Given the description of an element on the screen output the (x, y) to click on. 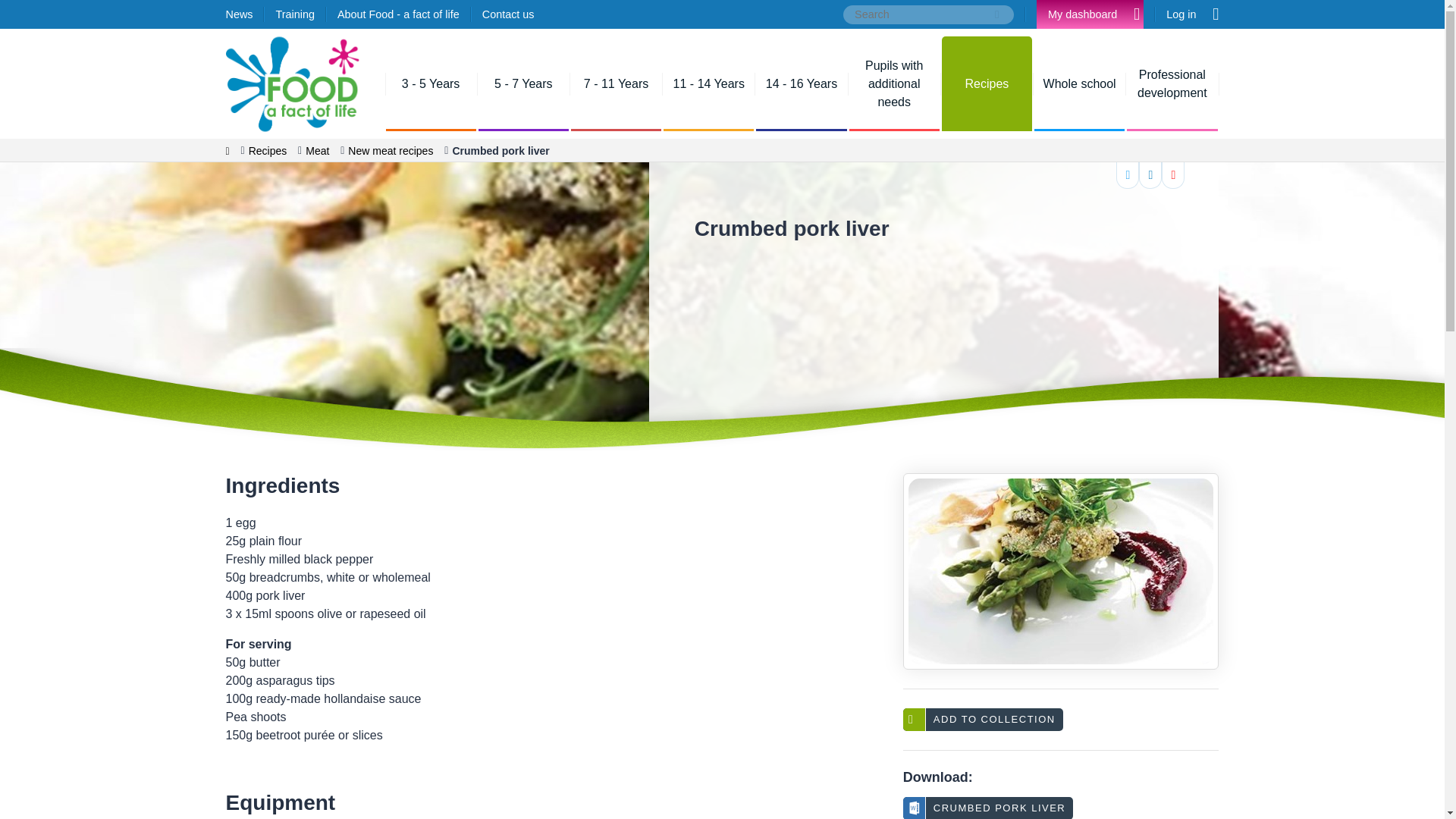
11 - 14 Years (708, 83)
Contact us (507, 14)
11 - 14 Years (708, 83)
Whole school (1079, 83)
5 - 7 Years (523, 83)
7 - 11 Years (616, 83)
5 - 7 Years (523, 83)
Whole school (1079, 83)
14 - 16 Years (801, 83)
7 - 11 Years (616, 83)
3 - 5 Years (431, 83)
14 - 16 Years (801, 83)
Training (294, 14)
About Food - a fact of life (398, 14)
3 - 5 Years (431, 83)
